Given the description of an element on the screen output the (x, y) to click on. 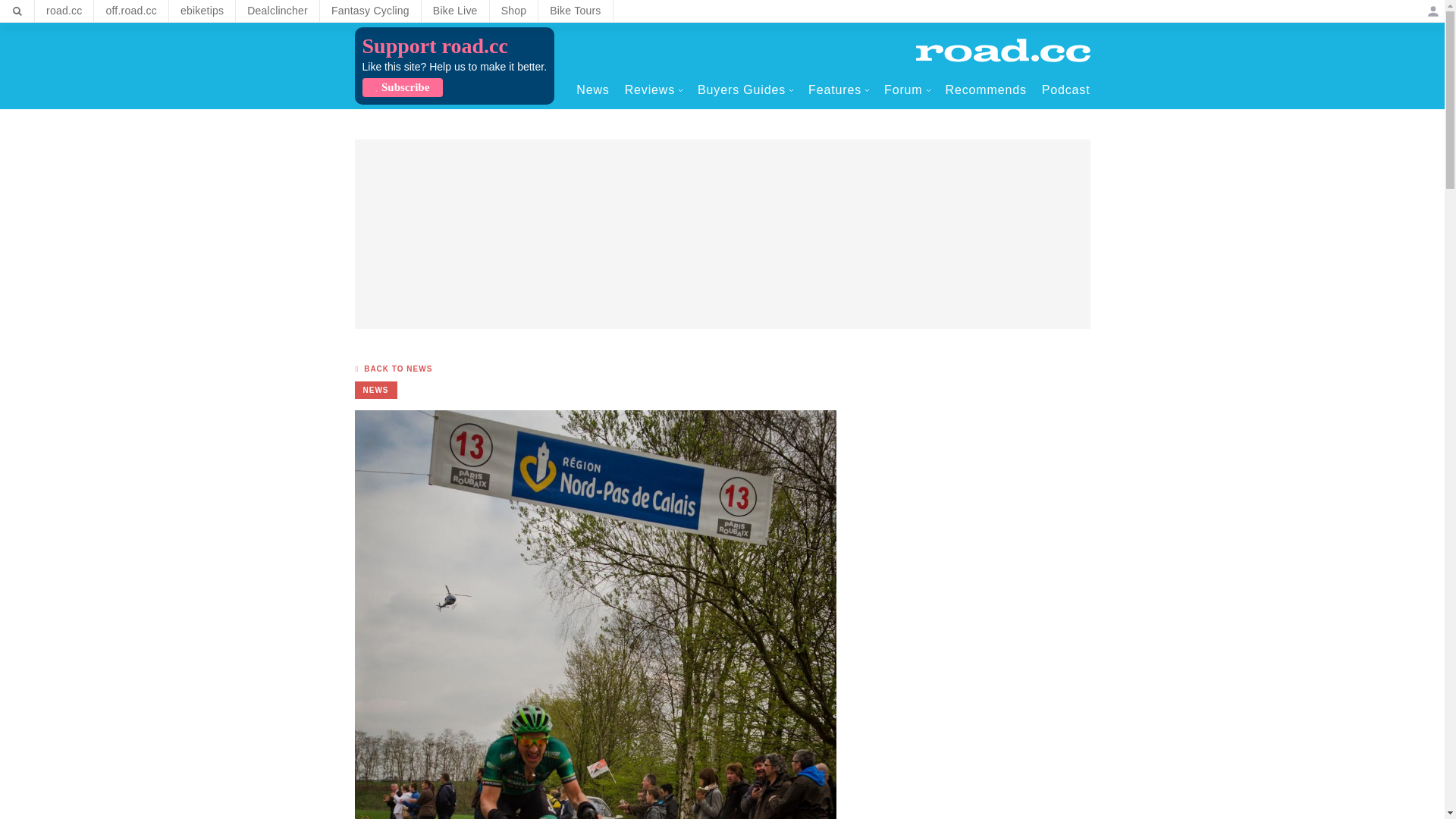
Reviews (653, 89)
Shop (513, 11)
Home (1002, 50)
road.cc (63, 11)
Subscribe (402, 87)
Dealclincher (276, 11)
off.road.cc (131, 11)
Fantasy Cycling (370, 11)
ebiketips (201, 11)
Bike Live (455, 11)
Bike Tours (574, 11)
